Given the description of an element on the screen output the (x, y) to click on. 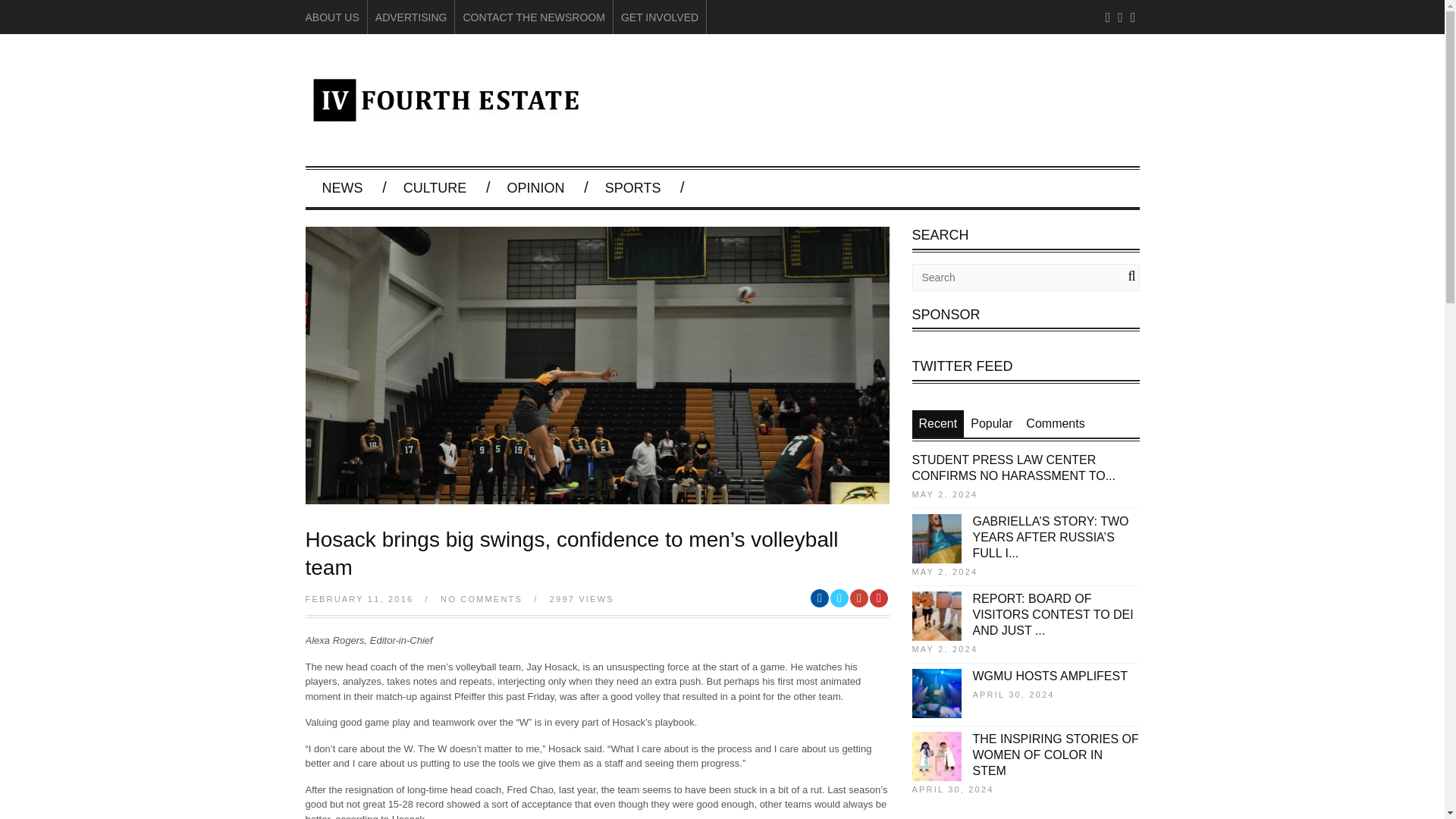
ABOUT US (331, 17)
Fourth Estate (444, 121)
ADVERTISING (410, 17)
CONTACT THE NEWSROOM (533, 17)
GET INVOLVED (659, 17)
